Given the description of an element on the screen output the (x, y) to click on. 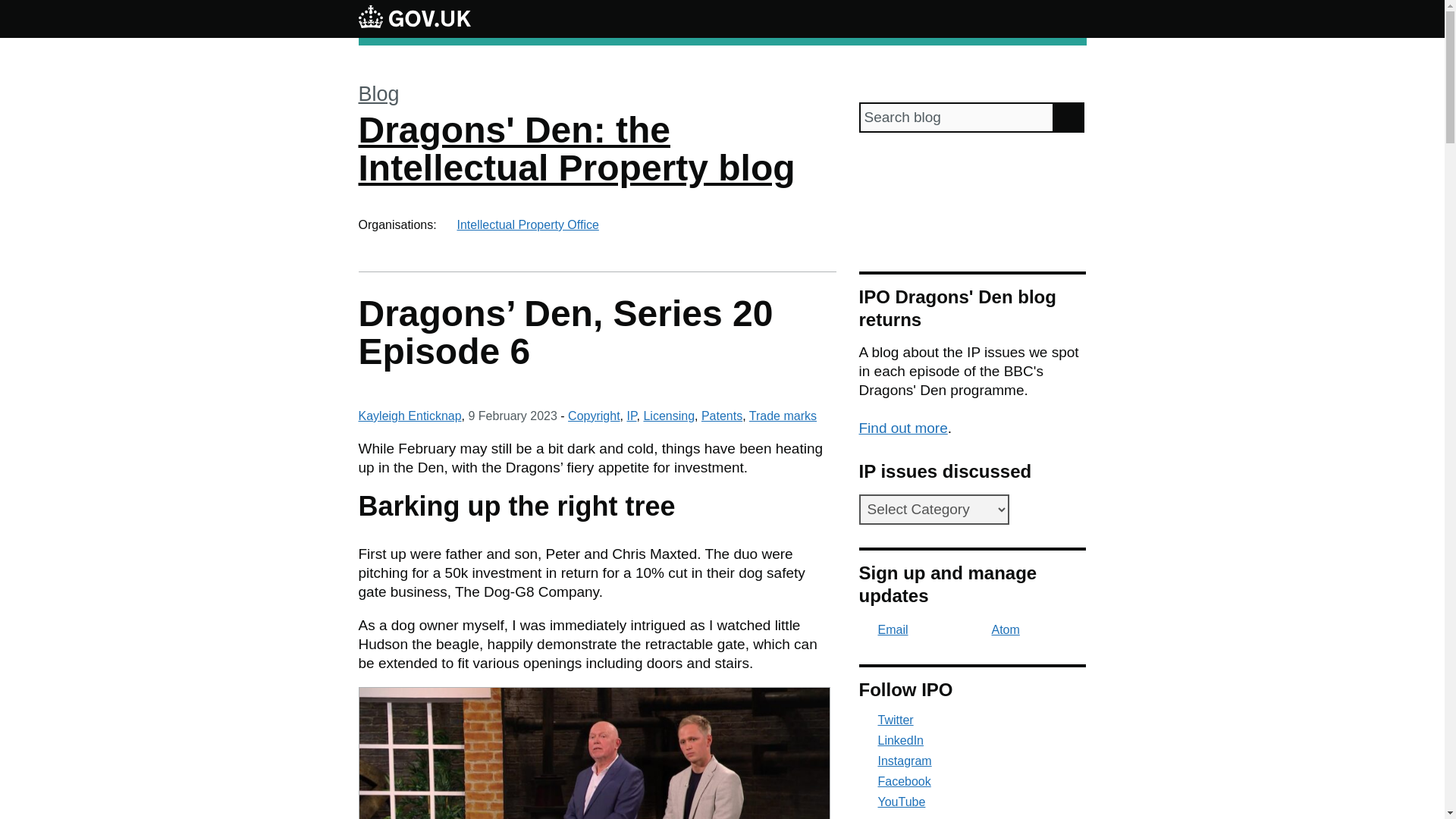
Kayleigh Enticknap (409, 415)
Facebook (972, 781)
Find out more (903, 427)
Intellectual Property Office (527, 224)
Copyright (593, 415)
Dragons' Den: the Intellectual Property blog (576, 148)
Twitter (972, 720)
Patents (721, 415)
GOV.UK (414, 15)
GOV.UK (414, 18)
